Given the description of an element on the screen output the (x, y) to click on. 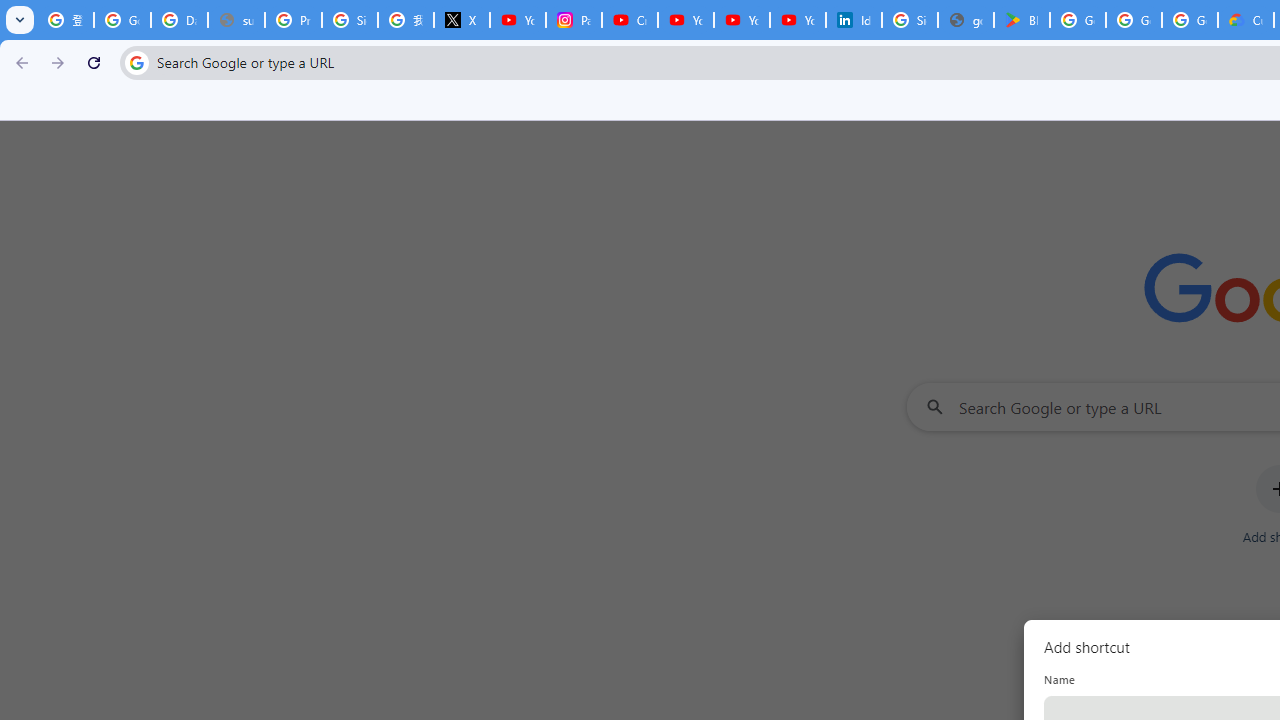
X (461, 20)
Google Workspace - Specific Terms (1190, 20)
support.google.com - Network error (235, 20)
YouTube Content Monetization Policies - How YouTube Works (518, 20)
Sign in - Google Accounts (349, 20)
Privacy Help Center - Policies Help (293, 20)
